Given the description of an element on the screen output the (x, y) to click on. 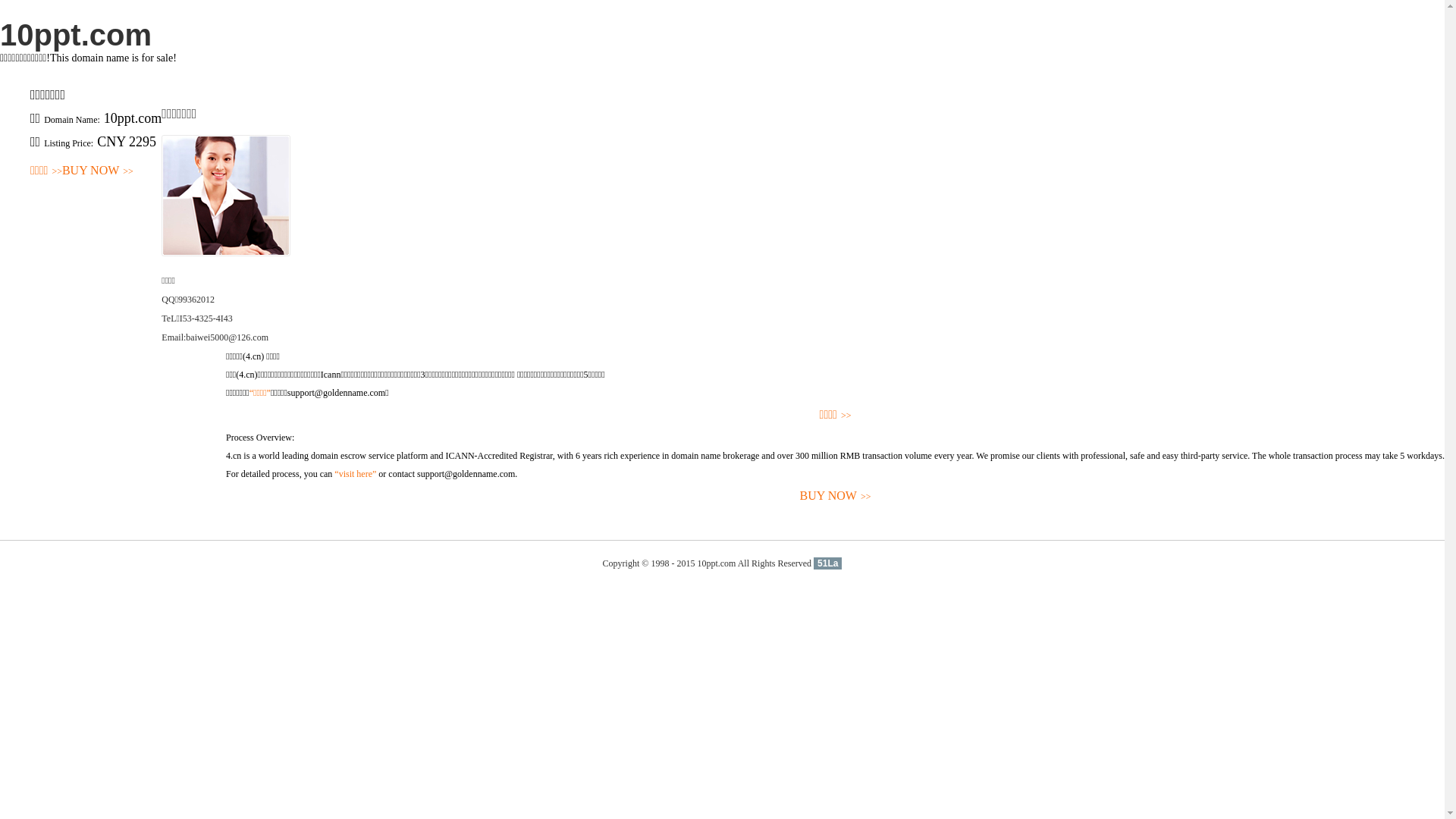
BUY NOW>> Element type: text (834, 496)
BUY NOW>> Element type: text (97, 170)
51La Element type: text (827, 563)
